Given the description of an element on the screen output the (x, y) to click on. 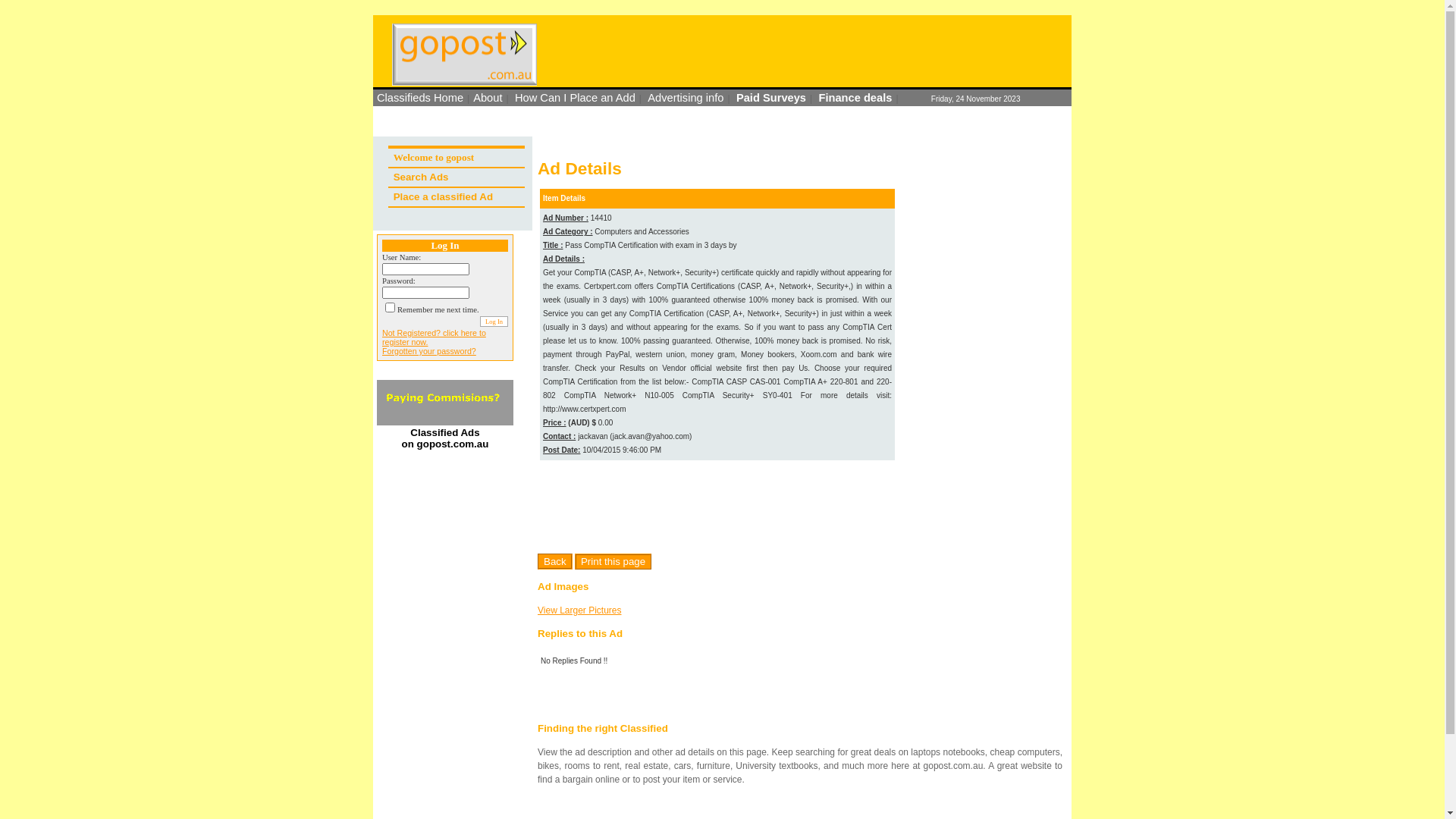
View Larger Pictures Element type: text (579, 610)
Not Registered? click here to register now. Element type: text (434, 337)
Back Element type: text (554, 561)
Place a classified Ad Element type: text (442, 196)
Log In Element type: text (494, 321)
Search Ads Element type: text (420, 176)
Finance deals Element type: text (854, 97)
Advertisement Element type: hover (714, 503)
Paid Surveys Element type: text (770, 97)
Print this page Element type: text (612, 561)
Advertising info Element type: text (685, 97)
About Element type: text (487, 97)
Forgotten your password? Element type: text (429, 350)
Classifieds Home Element type: text (420, 97)
How Can I Place an Add Element type: text (575, 97)
